Given the description of an element on the screen output the (x, y) to click on. 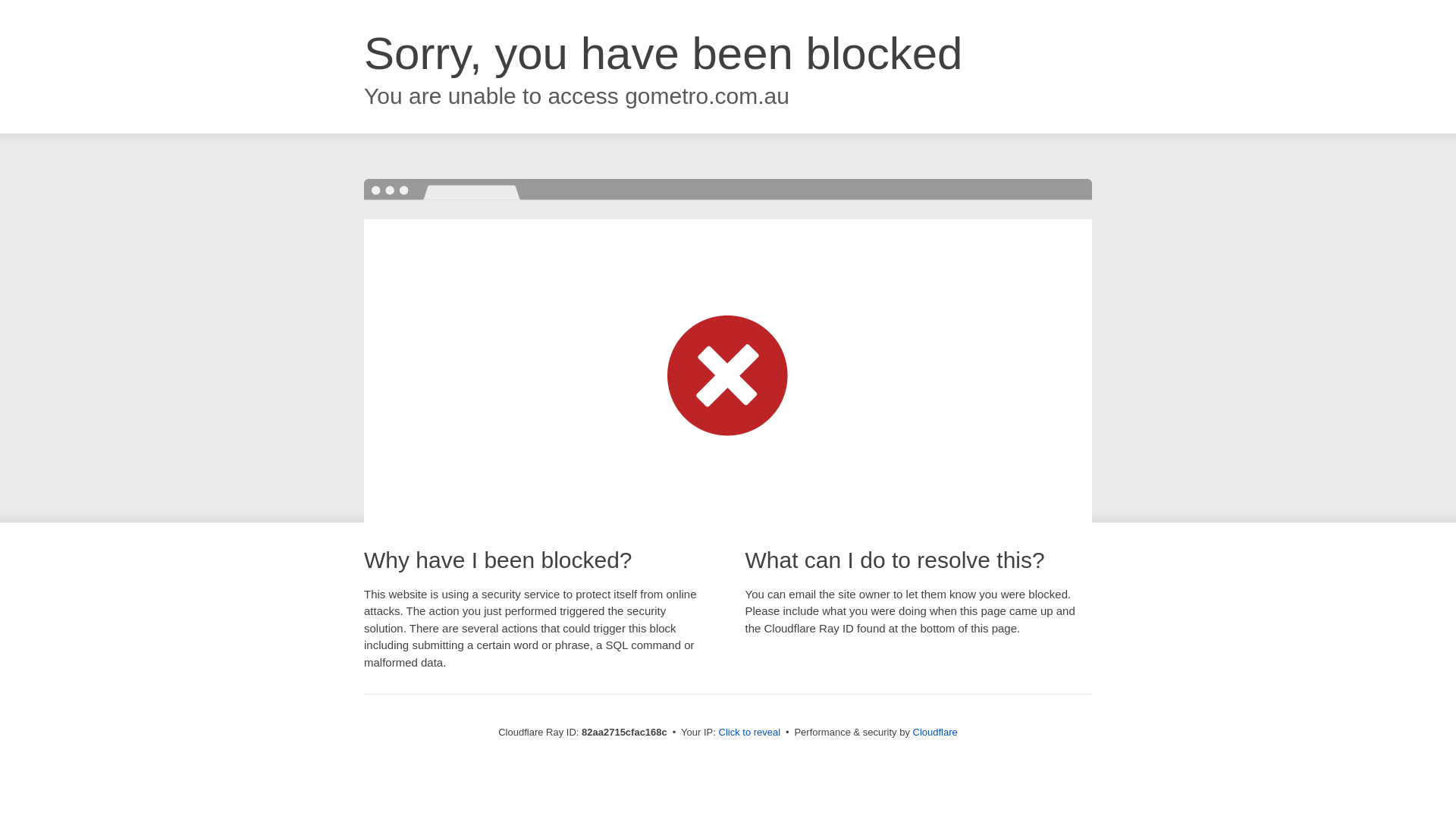
Cloudflare Element type: text (935, 731)
Click to reveal Element type: text (749, 732)
